Given the description of an element on the screen output the (x, y) to click on. 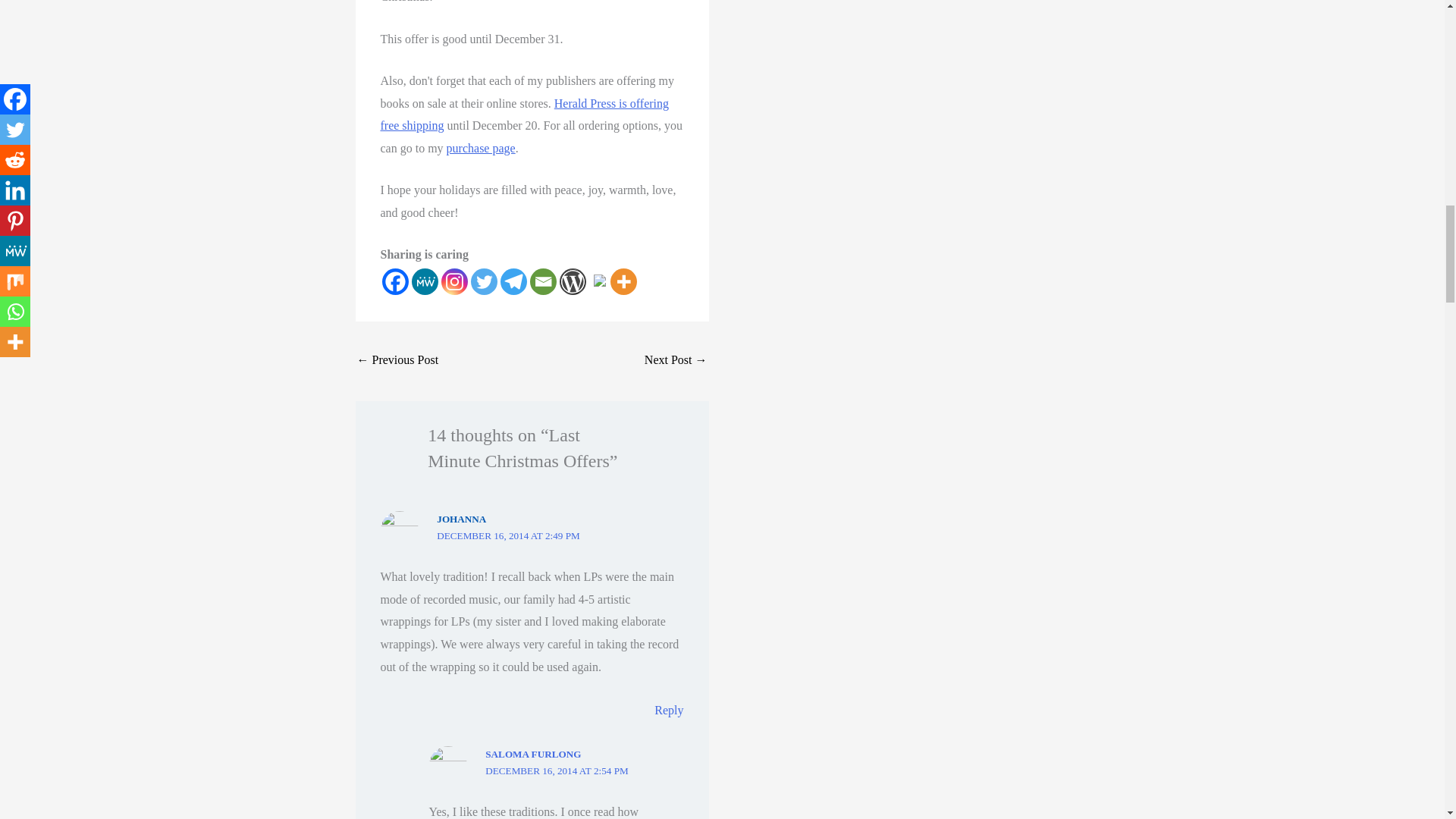
Telegram (513, 281)
Email (542, 281)
MeWe (424, 281)
More (623, 281)
WordPress (572, 281)
Facebook (395, 281)
Twitter (483, 281)
Herald Press is offering free shipping (524, 114)
Instagram (454, 281)
